Given the description of an element on the screen output the (x, y) to click on. 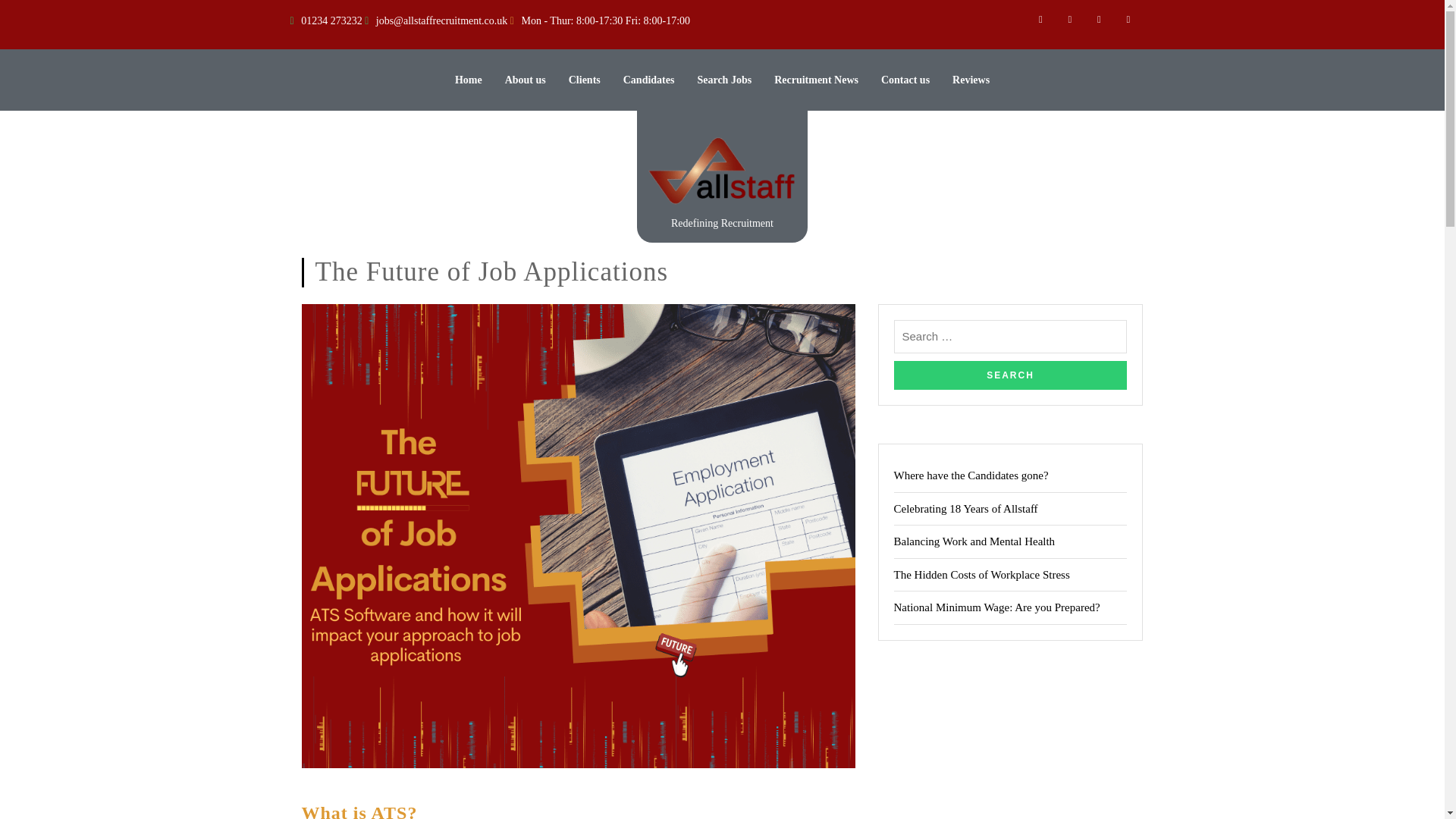
About us (525, 79)
Home (467, 79)
Search (1009, 375)
Contact us (905, 79)
Search Jobs (724, 79)
Candidates (649, 79)
Clients (584, 79)
Recruitment News (816, 79)
Reviews (971, 79)
Search (1009, 375)
